Given the description of an element on the screen output the (x, y) to click on. 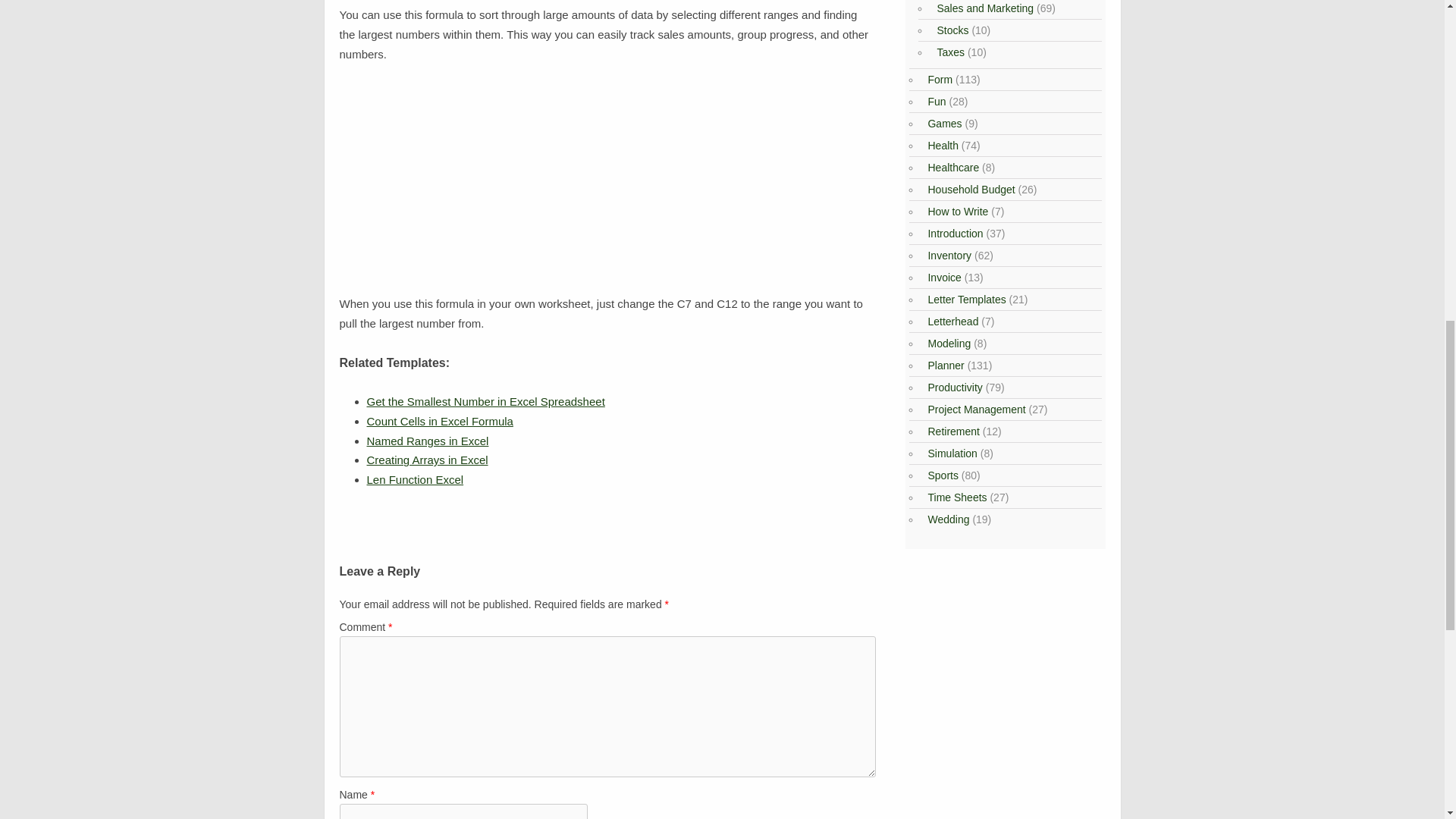
Get the Smallest Number in Excel Spreadsheet (485, 400)
Creating Arrays in Excel (426, 459)
April 20, 2015 (415, 479)
Len Function Excel (415, 479)
Named Ranges in Excel (427, 440)
April 14, 2015 (485, 400)
April 13, 2015 (439, 420)
Advertisement (607, 187)
April 15, 2015 (427, 440)
January 5, 2015 (426, 459)
Count Cells in Excel Formula (439, 420)
